Given the description of an element on the screen output the (x, y) to click on. 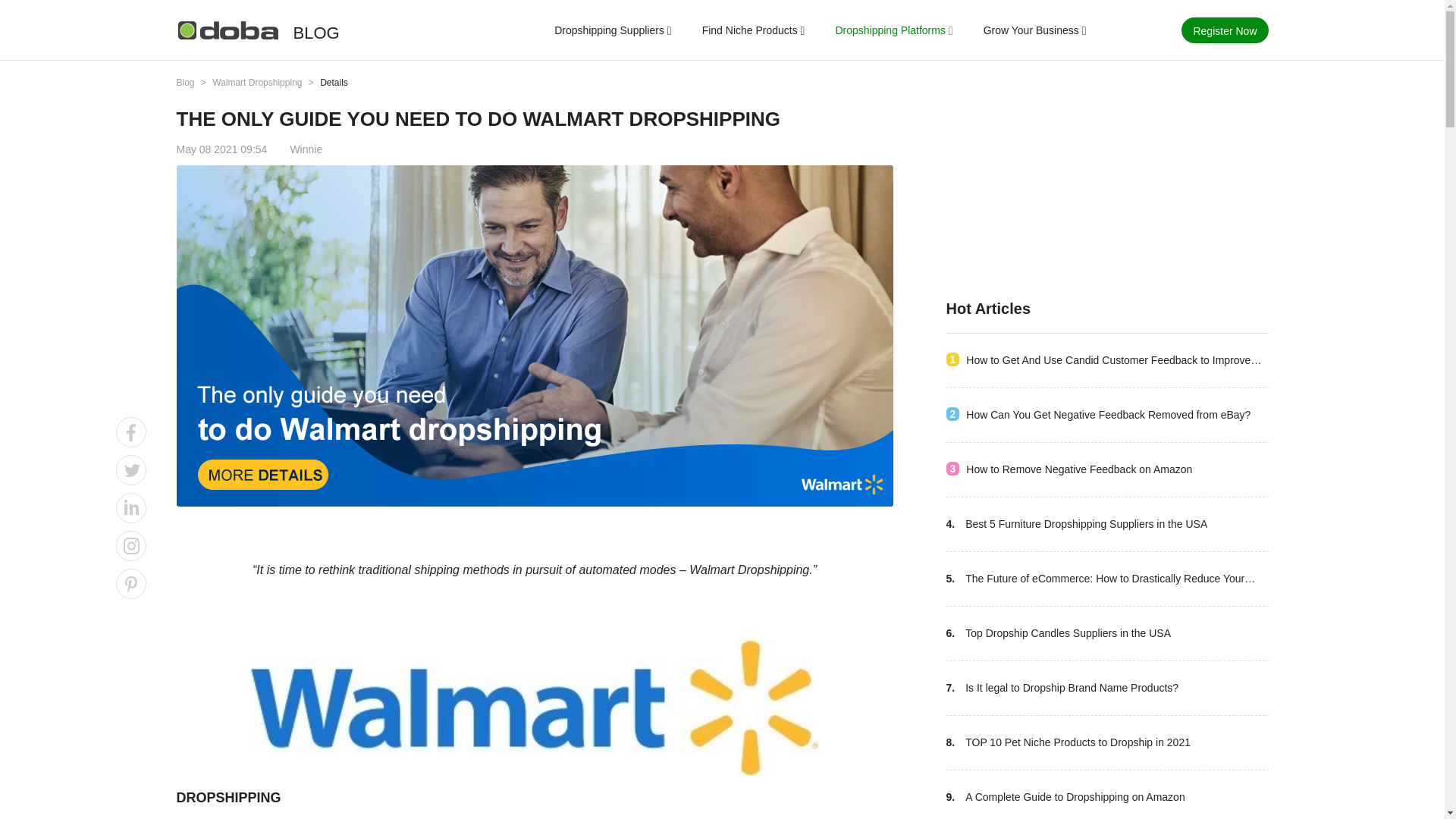
Winnie (305, 149)
Best 5 Furniture Dropshipping Suppliers in the USA (1086, 524)
Top Dropship Candles Suppliers in the USA (1067, 633)
Register Now (1224, 30)
Is It legal to Dropship Brand Name Products? (1071, 688)
Blog (184, 81)
Grow Your Business (1031, 32)
Walmart Dropshipping (258, 81)
TOP 10 Pet Niche Products to Dropship in 2021 (1078, 742)
How to Remove Negative Feedback on Amazon (1079, 469)
Dropshipping Platforms (889, 32)
A Complete Guide to Dropshipping on Amazon (1075, 797)
How Can You Get Negative Feedback Removed from eBay? (1108, 415)
Find Niche Products (749, 32)
